Given the description of an element on the screen output the (x, y) to click on. 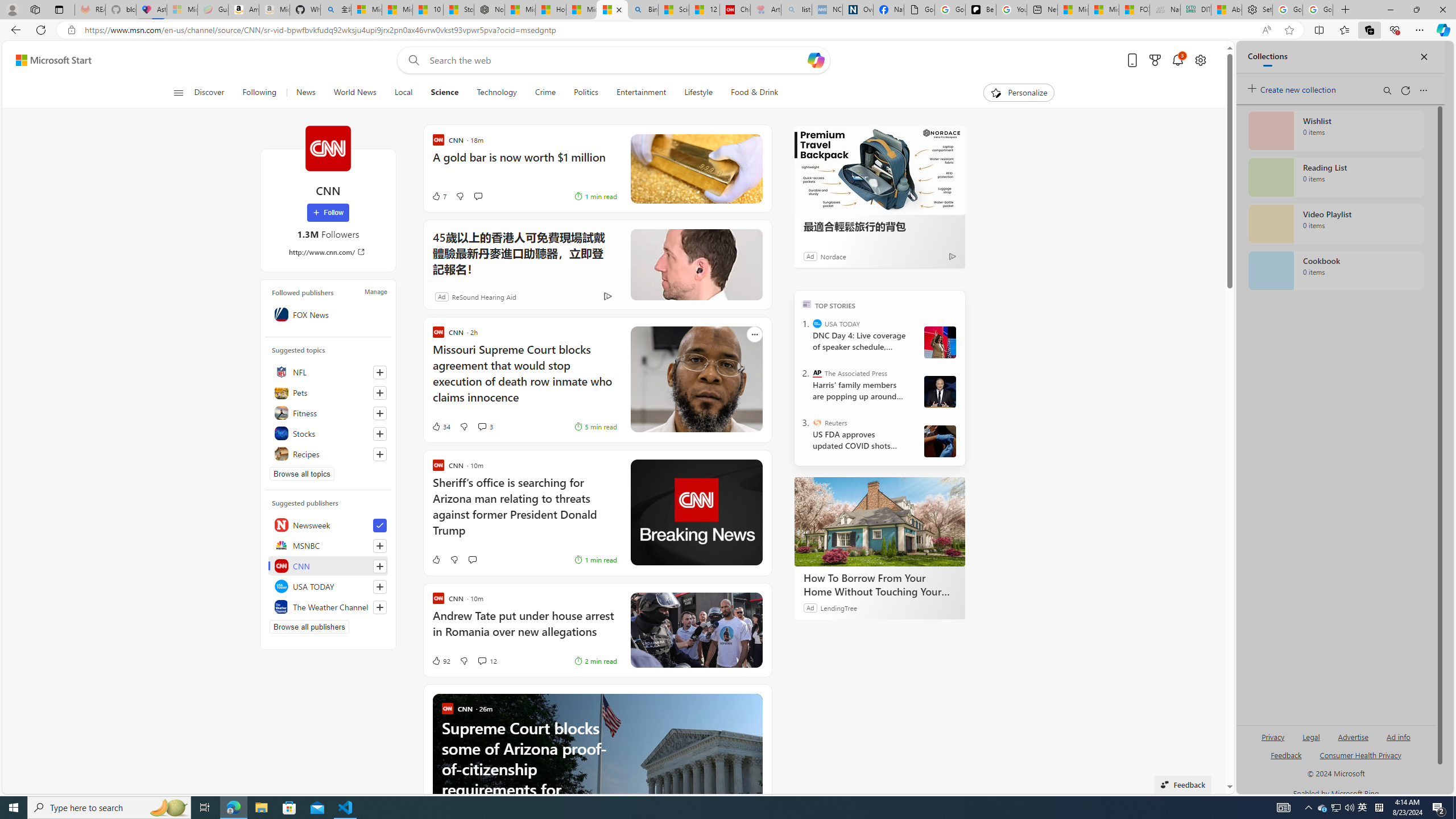
FOX News - MSN (1133, 9)
Newsweek (327, 524)
Asthma Inhalers: Names and Types (151, 9)
